Given the description of an element on the screen output the (x, y) to click on. 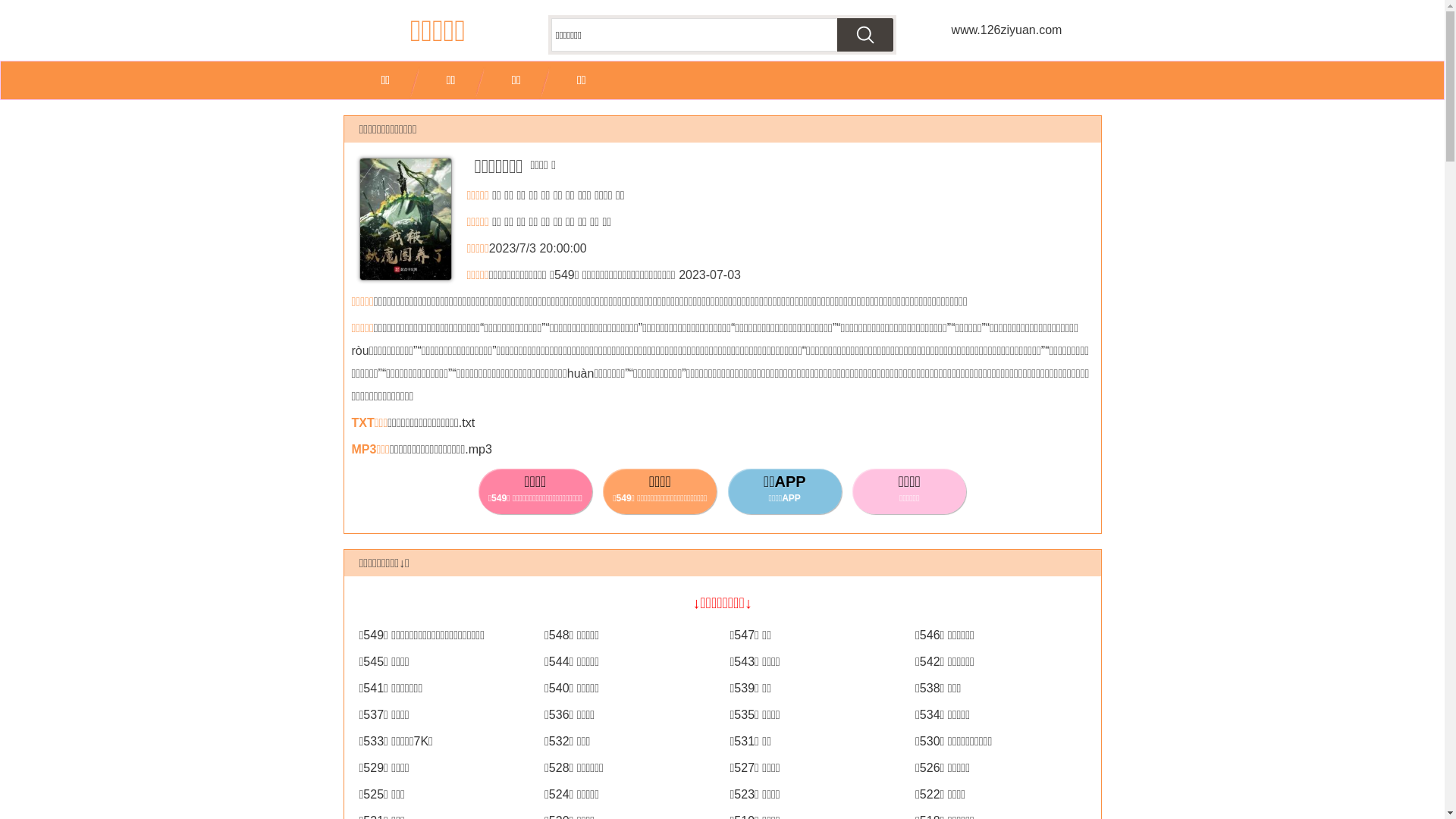
www.126ziyuan.com Element type: text (1006, 30)
